Given the description of an element on the screen output the (x, y) to click on. 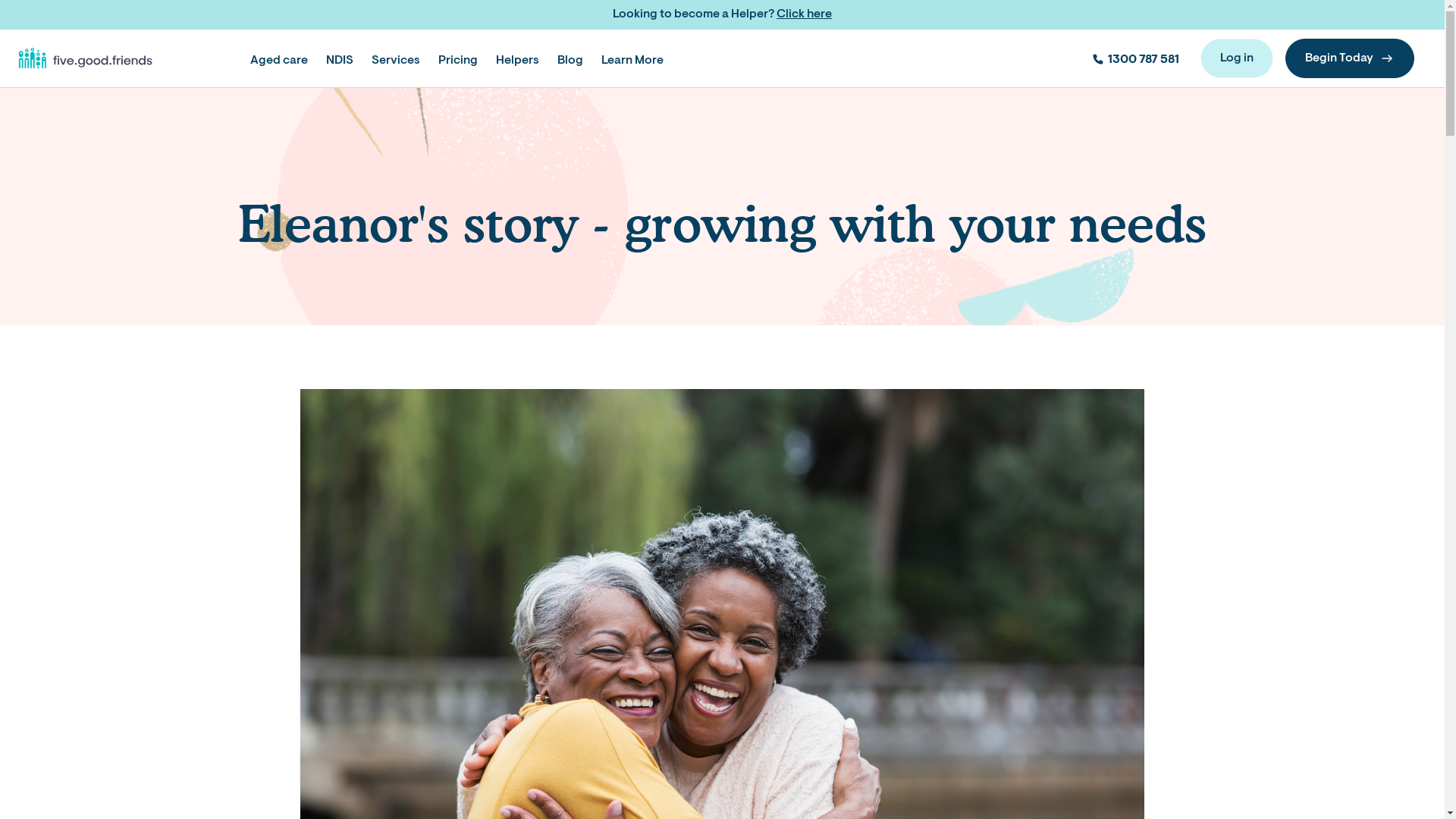
Aged care Element type: text (278, 58)
NDIS Element type: text (339, 60)
Log in Element type: text (1236, 58)
Click here Element type: text (803, 14)
1300 787 581 Element type: text (1134, 58)
Pricing Element type: text (457, 58)
Services Element type: text (395, 60)
Blog Element type: text (569, 58)
Helpers Element type: text (517, 58)
Begin Today Element type: text (1349, 58)
Learn More Element type: text (631, 58)
